Given the description of an element on the screen output the (x, y) to click on. 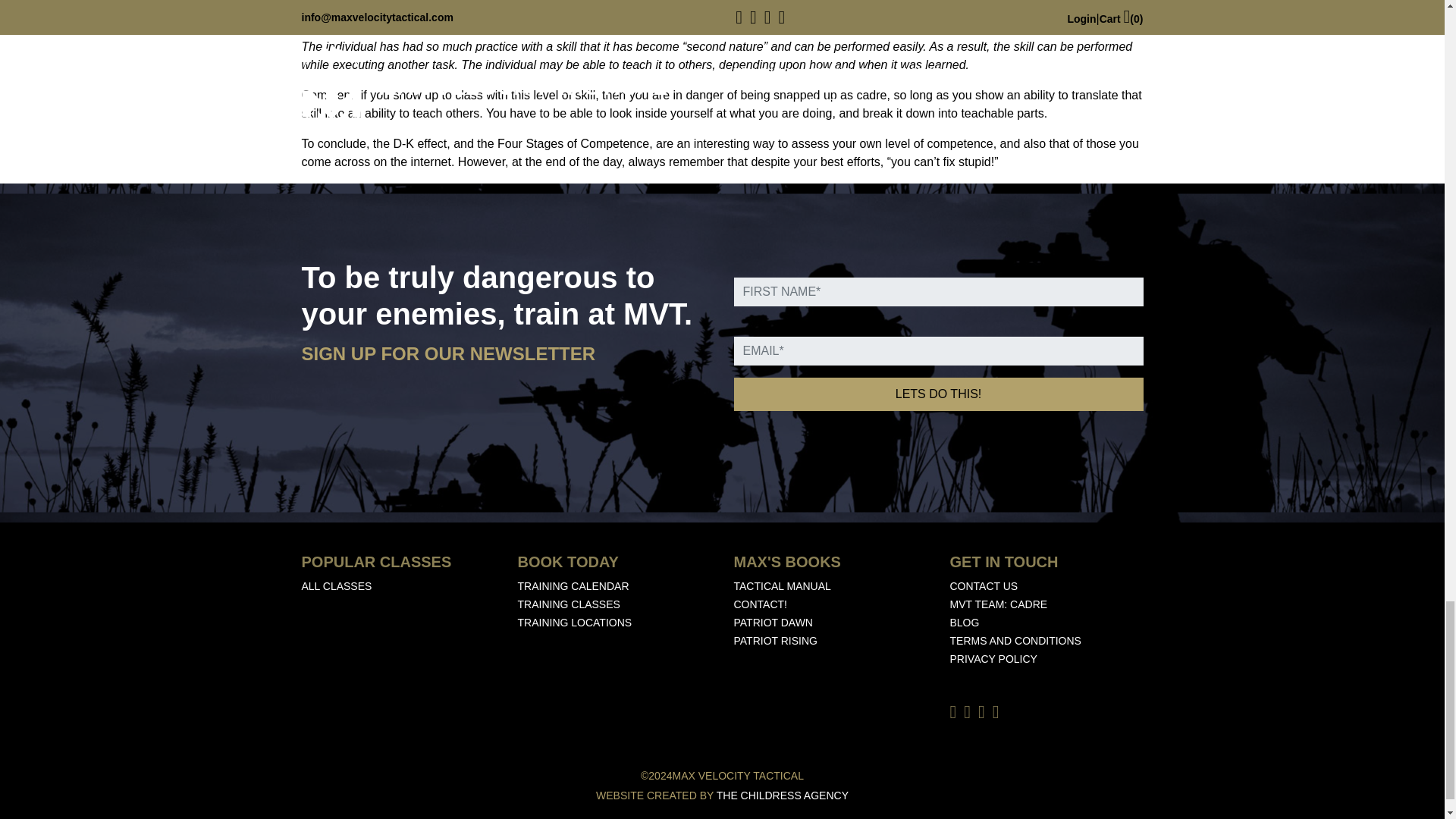
LETS DO THIS! (937, 394)
